Given the description of an element on the screen output the (x, y) to click on. 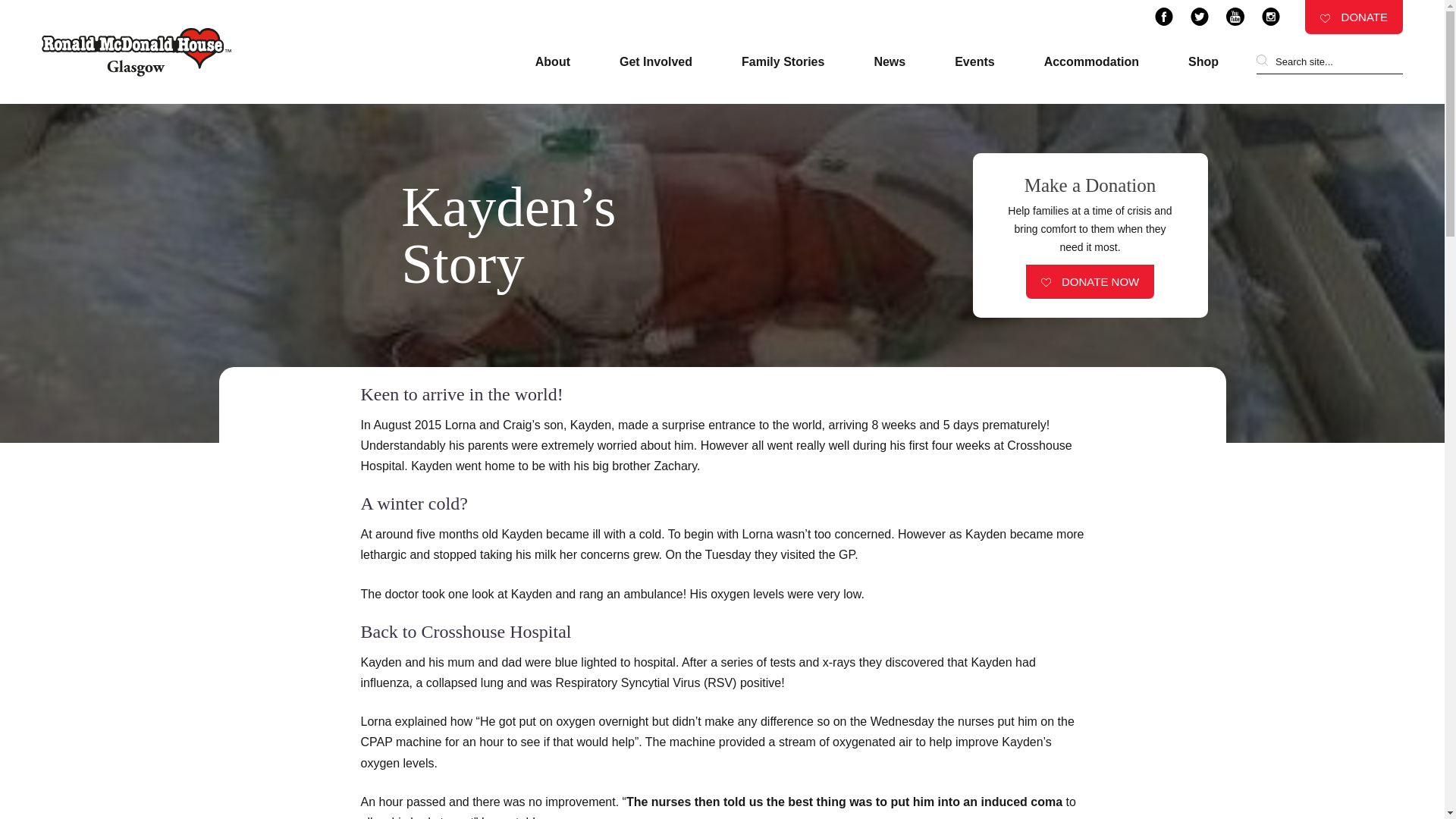
Accommodation (1090, 62)
About (552, 62)
Events (974, 62)
search (1262, 60)
News (889, 62)
YouTube (1234, 16)
Twitter (1199, 16)
DONATE NOW (1090, 281)
DONATE (1353, 17)
Family Stories (782, 62)
like (1046, 281)
Get Involved (656, 62)
Instagram (1270, 16)
Facebook (1163, 16)
like (1325, 17)
